Given the description of an element on the screen output the (x, y) to click on. 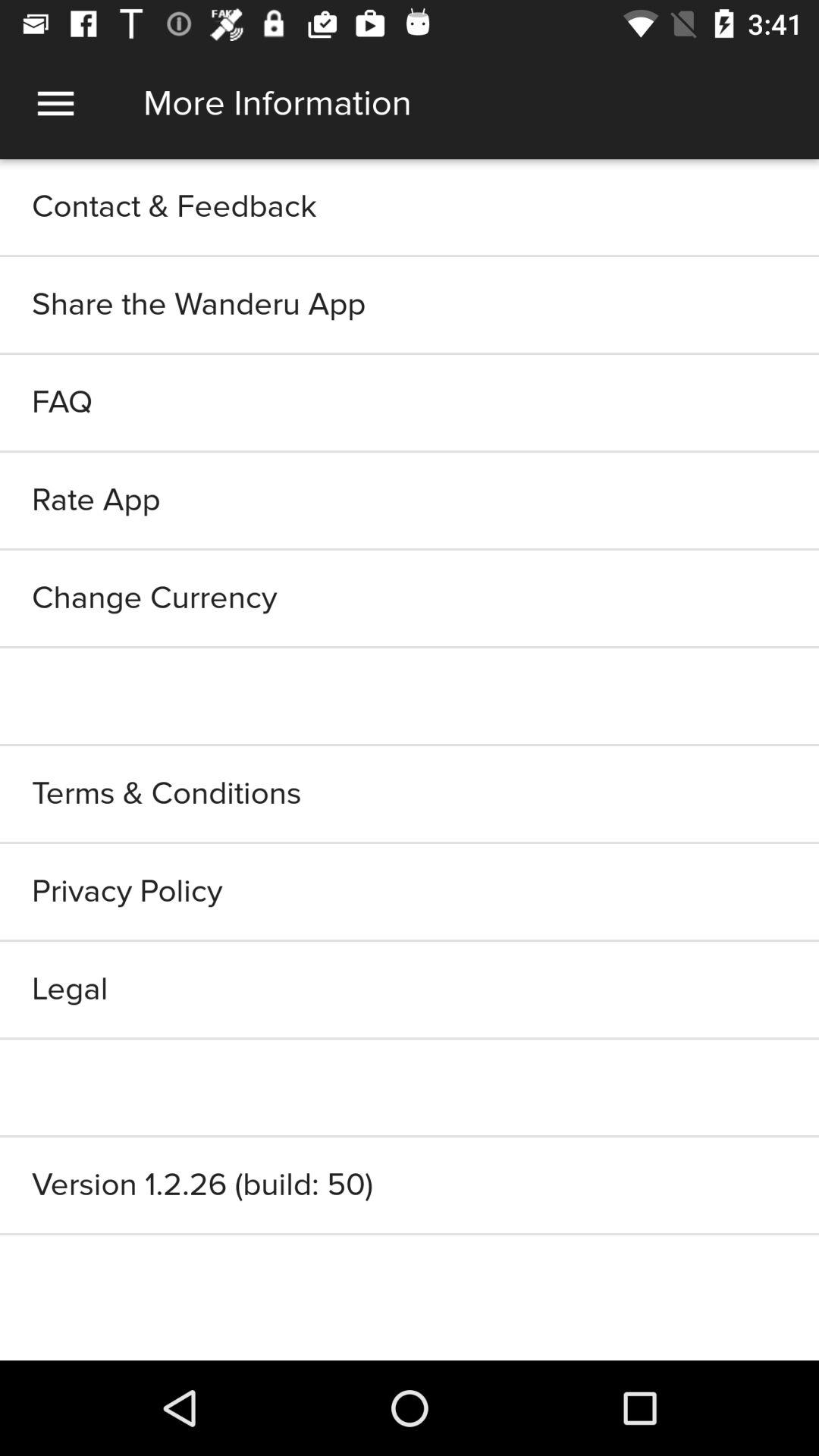
turn off item below rate app (409, 598)
